Given the description of an element on the screen output the (x, y) to click on. 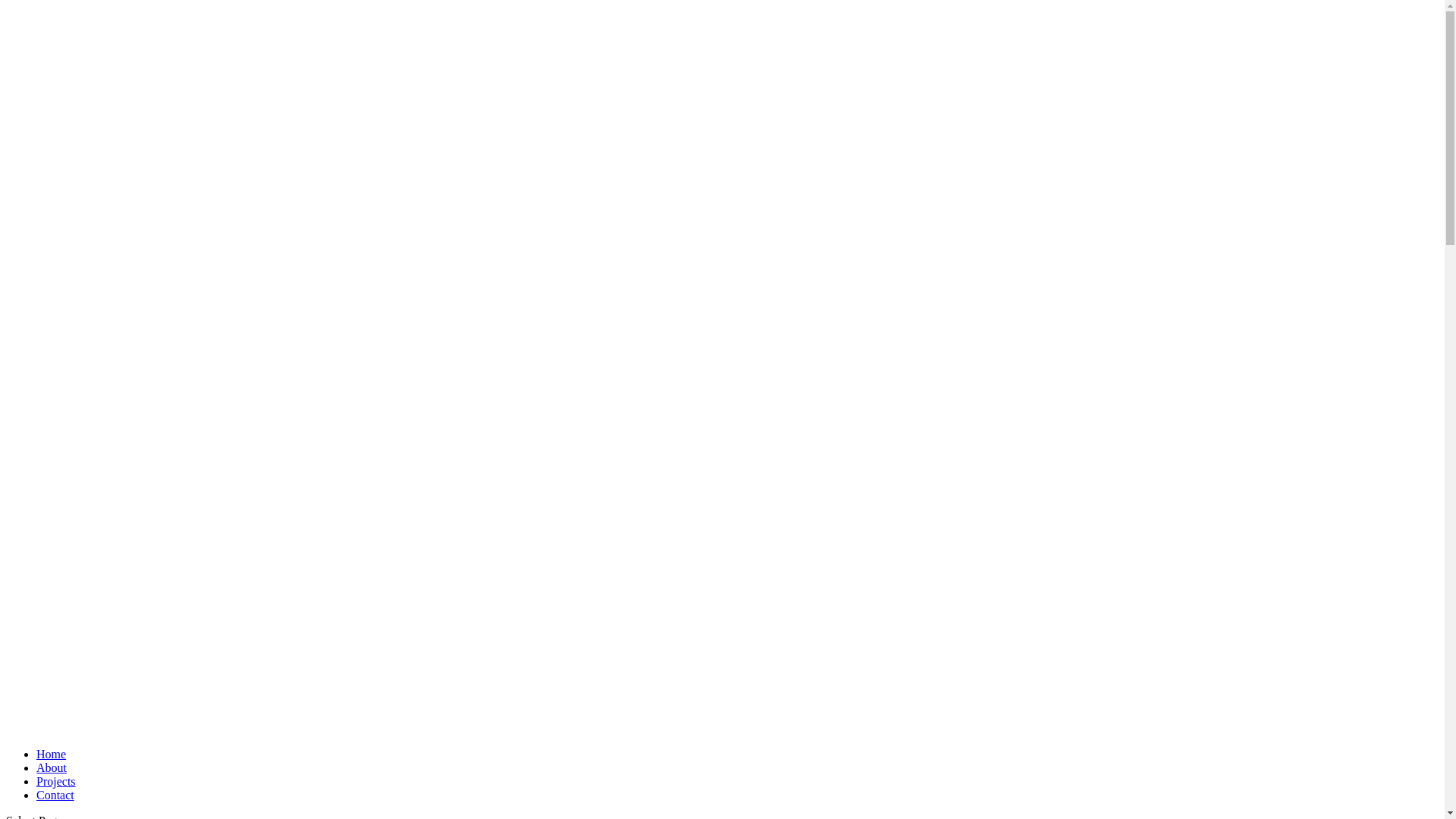
Home Element type: text (50, 753)
Projects Element type: text (55, 781)
About Element type: text (51, 767)
Contact Element type: text (55, 794)
